Given the description of an element on the screen output the (x, y) to click on. 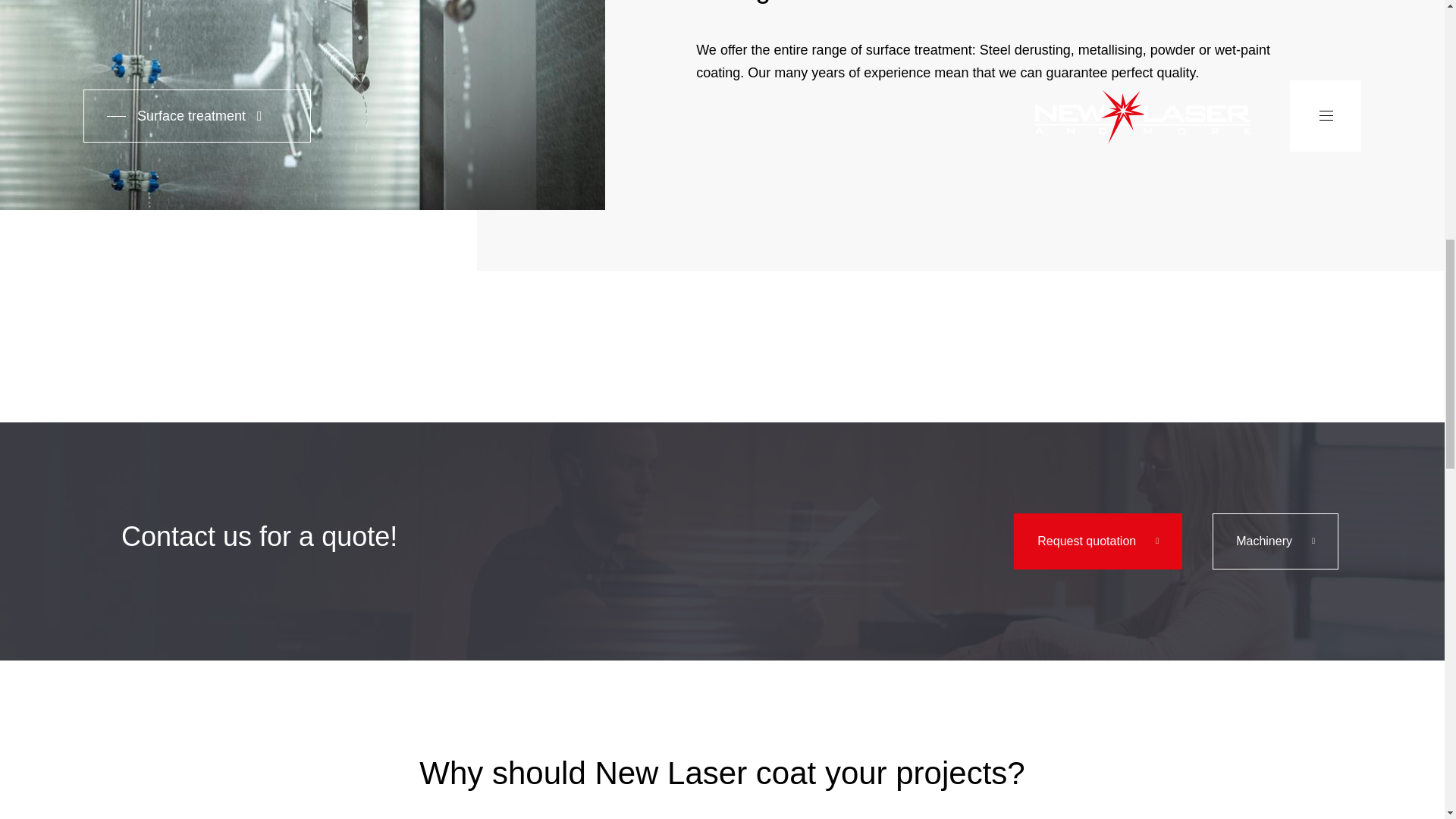
Request quotation (1097, 541)
New Laser - Metal cutting - Sankt-Vith, Belgium (1097, 541)
Machinery (1275, 541)
